Given the description of an element on the screen output the (x, y) to click on. 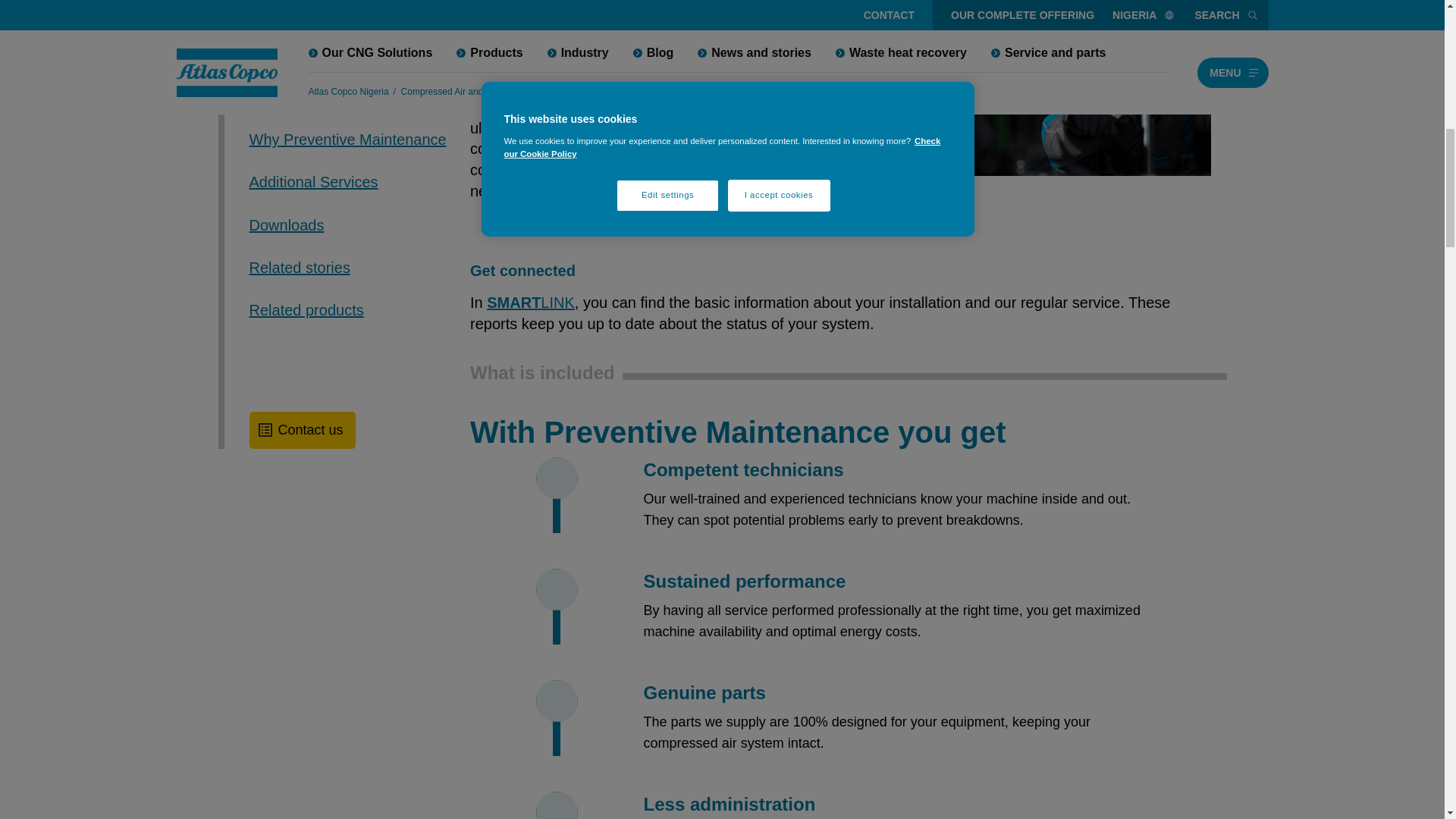
Contact us (301, 191)
Service technicians (651, 33)
